Given the description of an element on the screen output the (x, y) to click on. 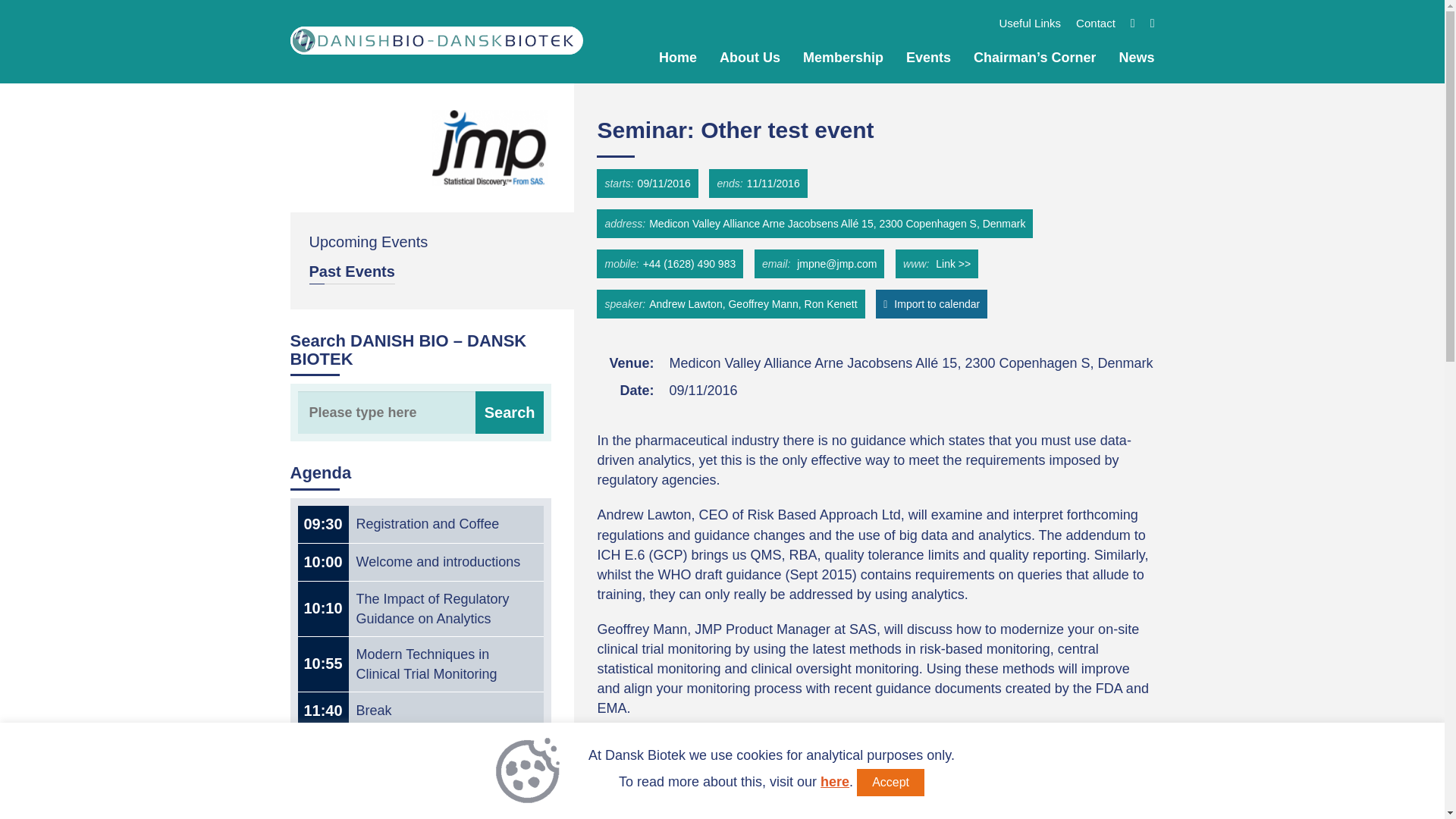
here (834, 781)
Past Events (351, 273)
Search (510, 412)
Accept (890, 782)
Search (510, 412)
Search (510, 412)
About Us (749, 57)
Home (678, 57)
Upcoming Events (368, 241)
Please type here (420, 412)
News (1136, 57)
Import to calendar (931, 304)
Events (927, 57)
Contact (1095, 23)
Useful Links (1029, 23)
